Given the description of an element on the screen output the (x, y) to click on. 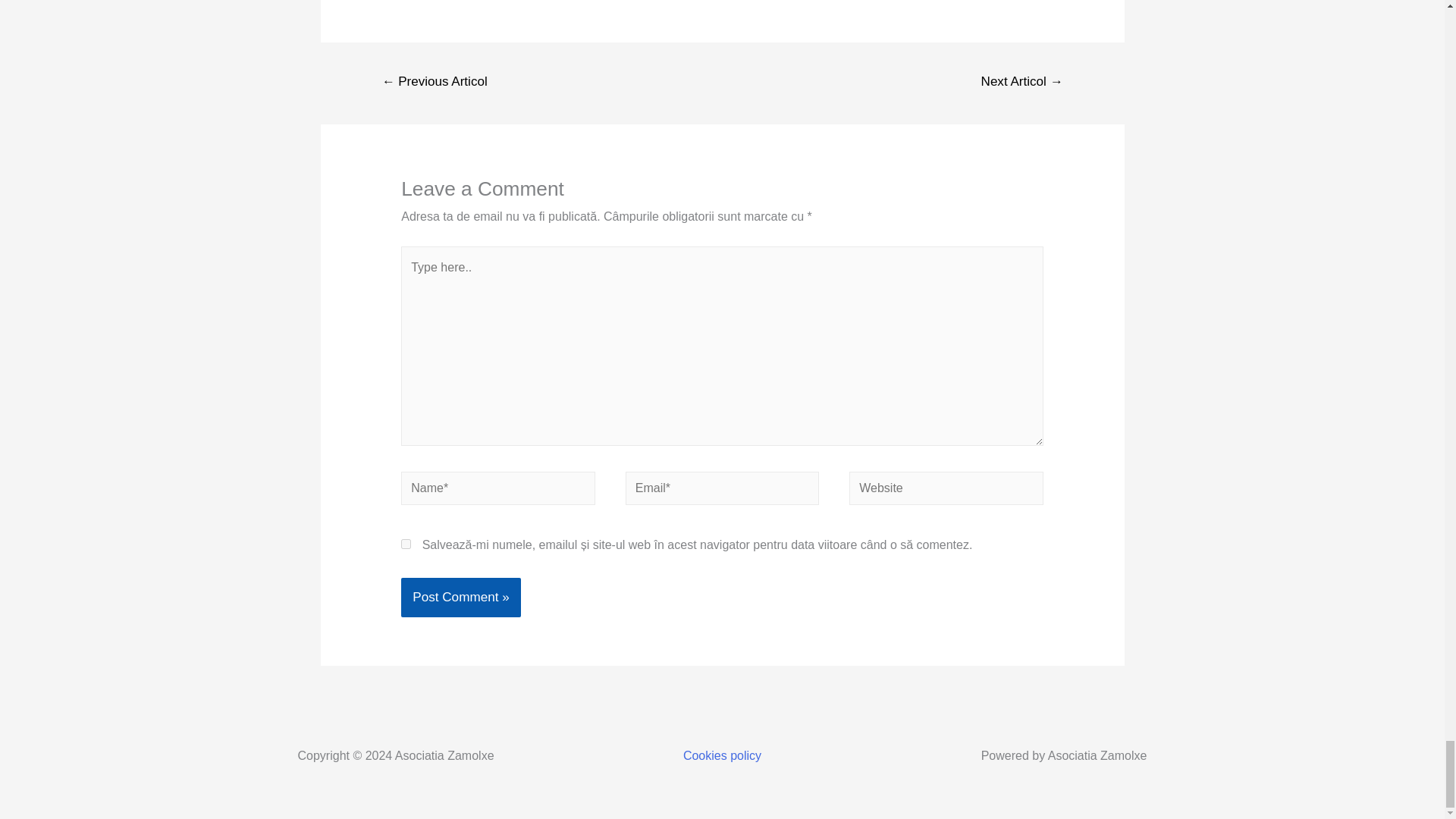
yes (405, 543)
